Given the description of an element on the screen output the (x, y) to click on. 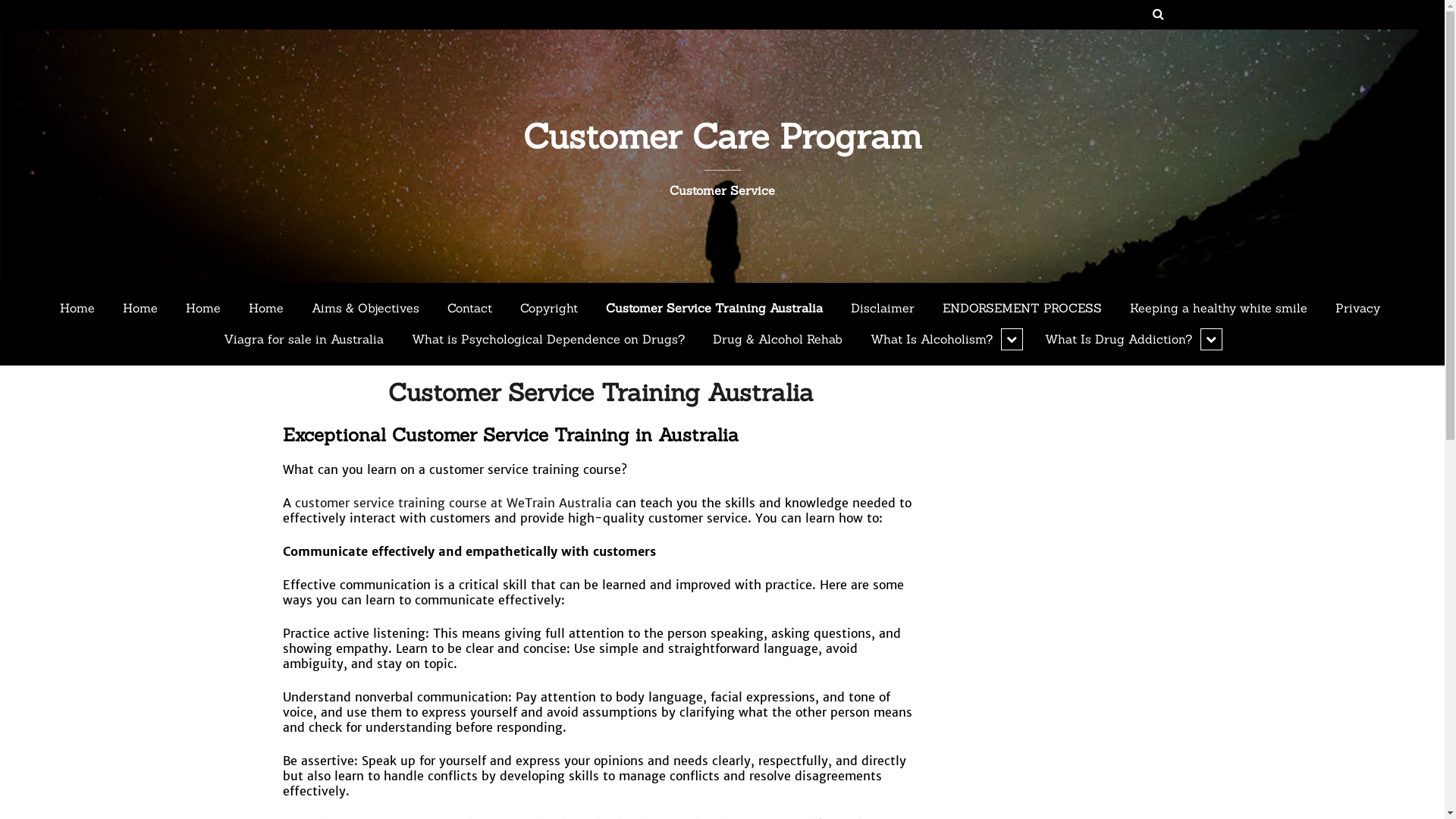
ENDORSEMENT PROCESS Element type: text (1021, 308)
Home Element type: text (139, 308)
What Is Alcoholism? Element type: text (943, 339)
Keeping a healthy white smile Element type: text (1218, 308)
Privacy Element type: text (1357, 308)
Disclaimer Element type: text (882, 308)
What Is Drug Addiction? Element type: text (1130, 339)
Viagra for sale in Australia Element type: text (303, 339)
expand child menu Element type: text (1011, 339)
Drug & Alcohol Rehab Element type: text (777, 339)
Home Element type: text (202, 308)
Customer Service Training Australia Element type: text (713, 308)
Home Element type: text (76, 308)
Contact Element type: text (469, 308)
Customer Care Program Element type: text (722, 135)
Copyright Element type: text (548, 308)
Customer Service Training Australia Element type: text (600, 391)
What is Psychological Dependence on Drugs? Element type: text (547, 339)
Home Element type: text (265, 308)
expand child menu Element type: text (1211, 339)
Aims & Objectives Element type: text (365, 308)
customer service training course at WeTrain Australia Element type: text (452, 502)
